Given the description of an element on the screen output the (x, y) to click on. 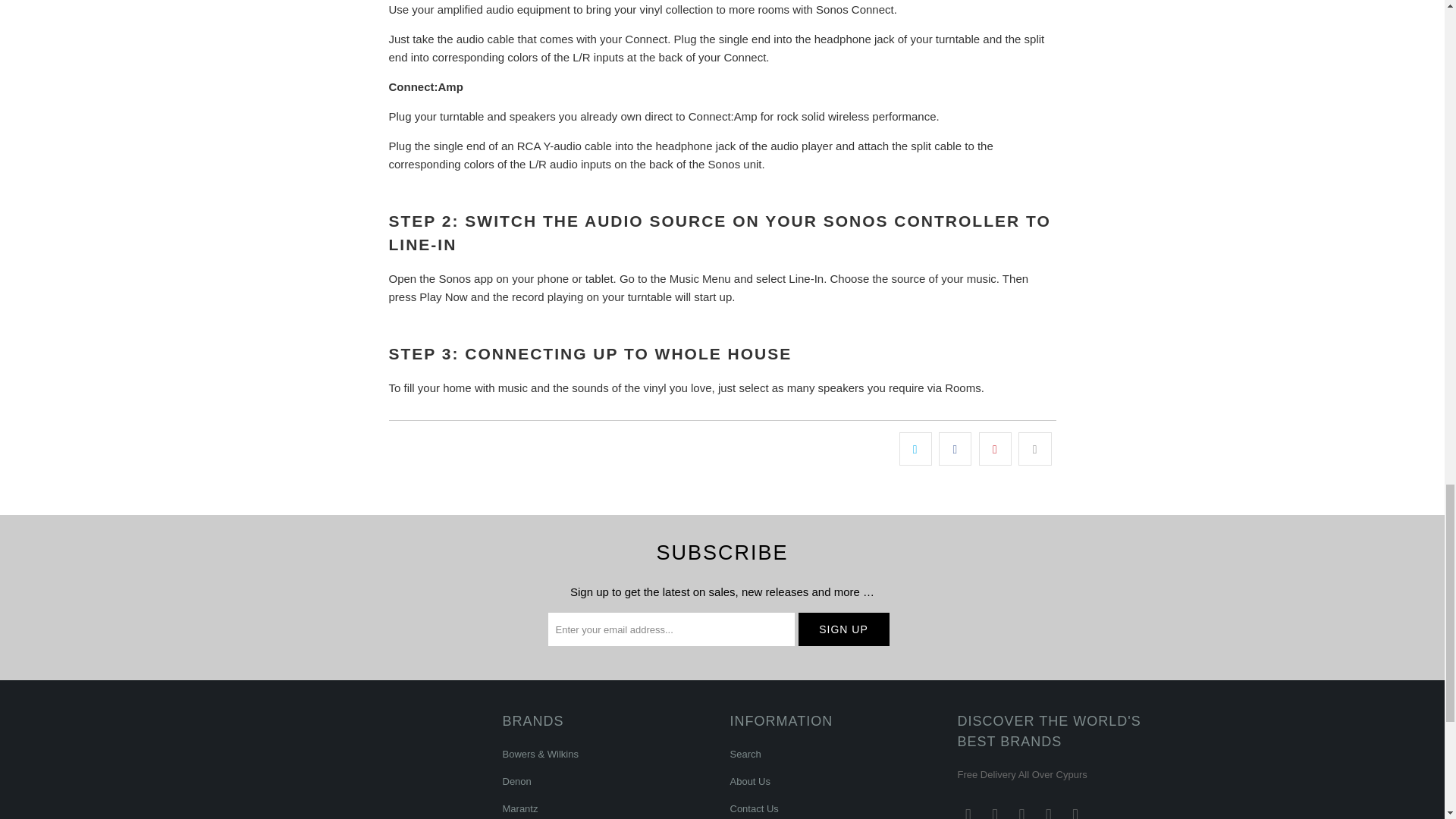
Share this on Twitter (915, 449)
Email this to a friend (1034, 449)
Share this on Facebook (955, 449)
Share this on Pinterest (994, 449)
Sign Up (842, 629)
